Given the description of an element on the screen output the (x, y) to click on. 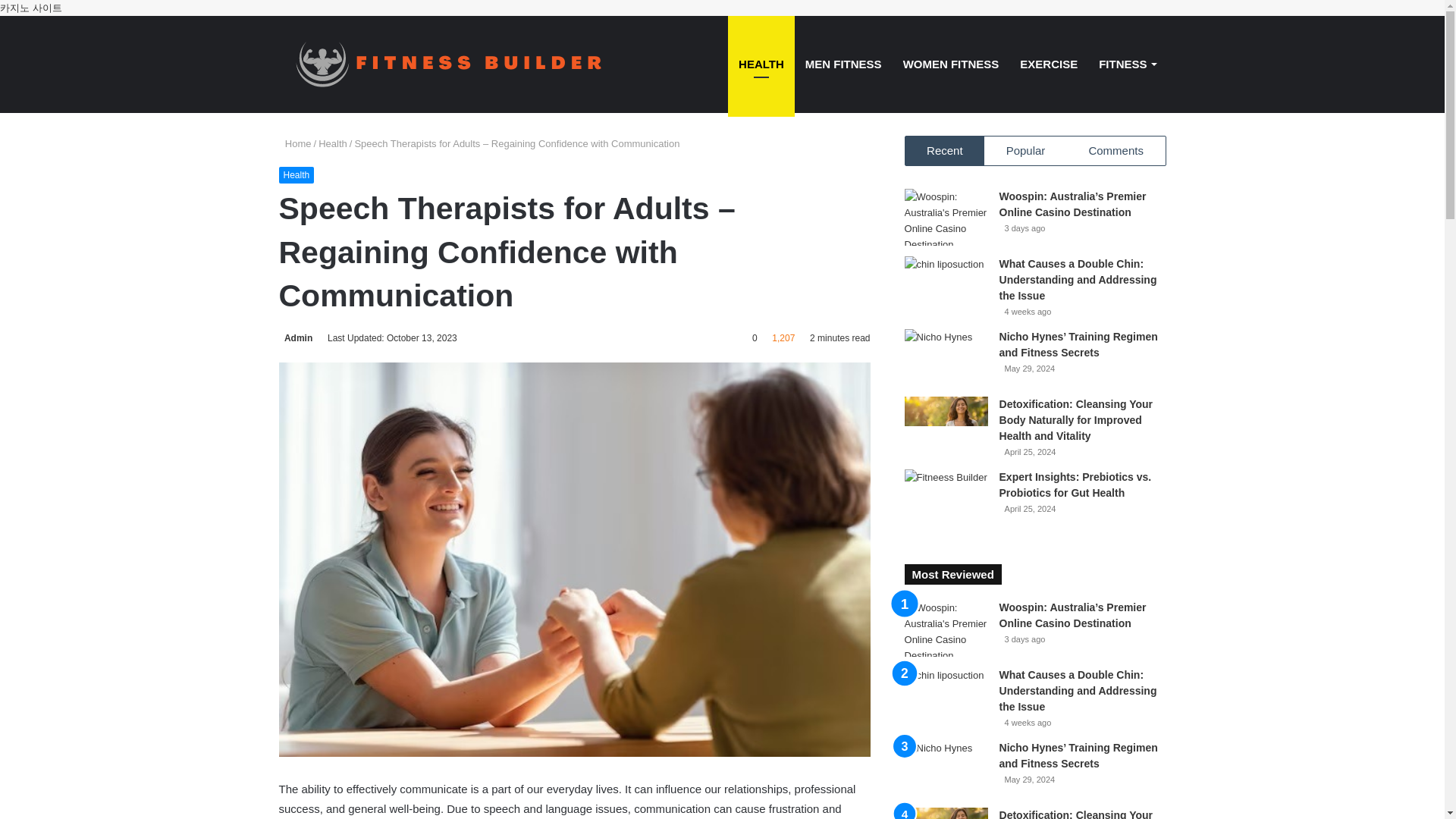
Health (332, 143)
Admin (296, 337)
Admin (296, 337)
Fitness Builder (471, 64)
Home (295, 143)
Health (296, 175)
MEN FITNESS (843, 64)
WOMEN FITNESS (951, 64)
